Given the description of an element on the screen output the (x, y) to click on. 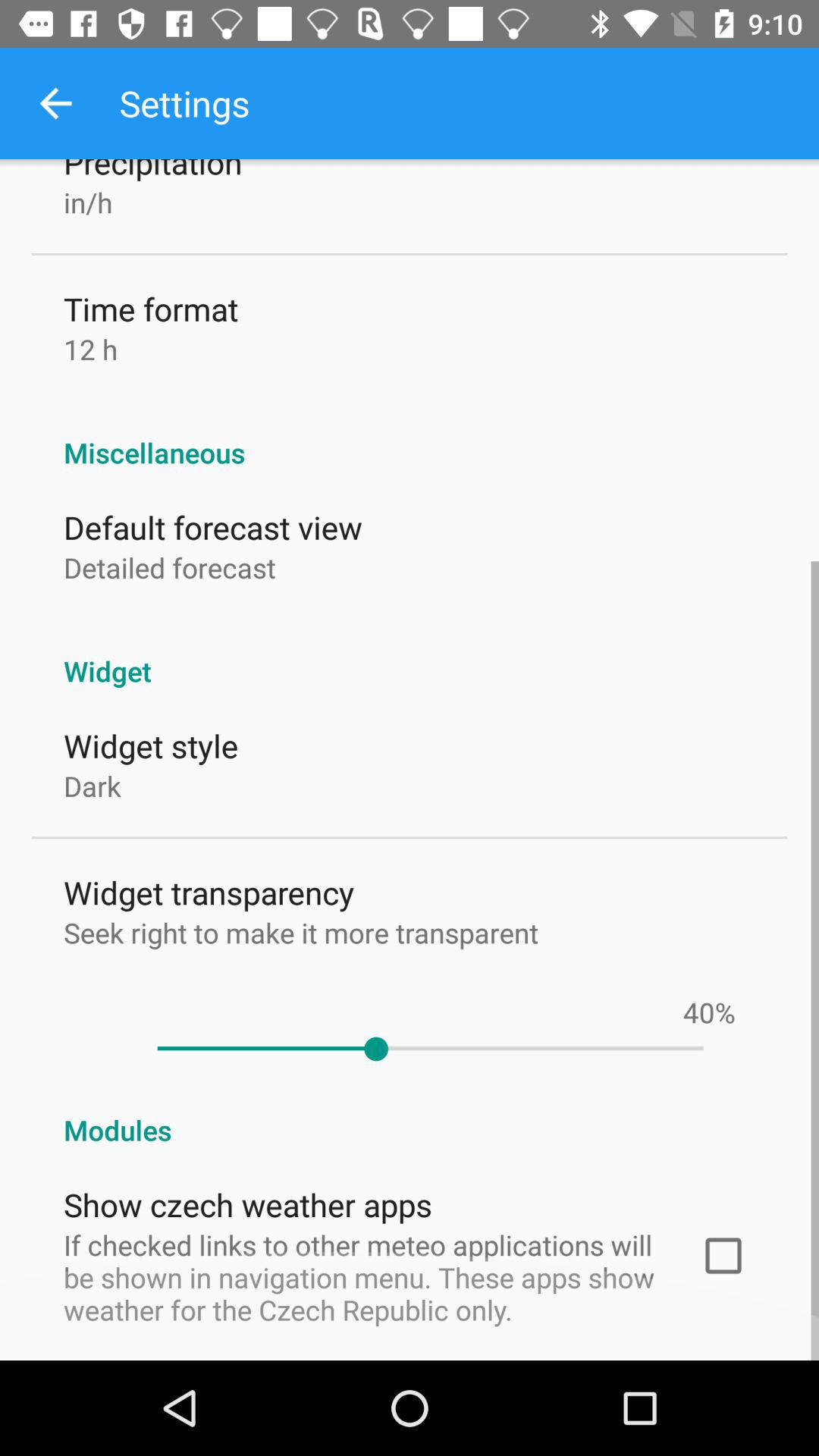
click icon below widget transparency item (300, 932)
